Given the description of an element on the screen output the (x, y) to click on. 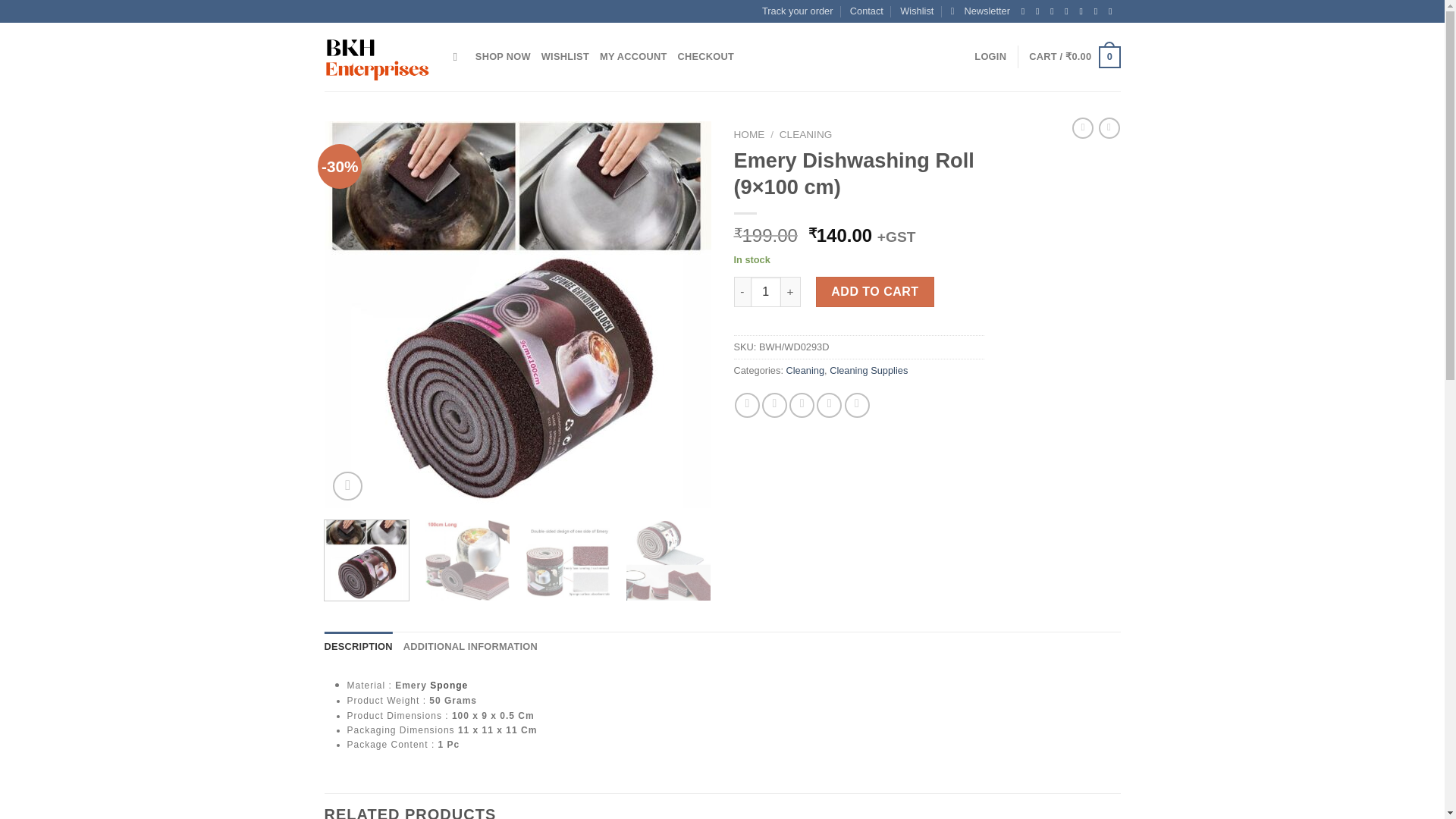
MY ACCOUNT (632, 56)
SHOP NOW (503, 56)
1 (765, 291)
Cart (1074, 57)
Track your order (796, 11)
BKH Enterprises - Kitchen Accessories Wholesale (377, 57)
Contact (866, 11)
WISHLIST (565, 56)
Wishlist (916, 11)
CHECKOUT (706, 56)
LOGIN (990, 56)
Qty (765, 291)
Newsletter (980, 11)
